Given the description of an element on the screen output the (x, y) to click on. 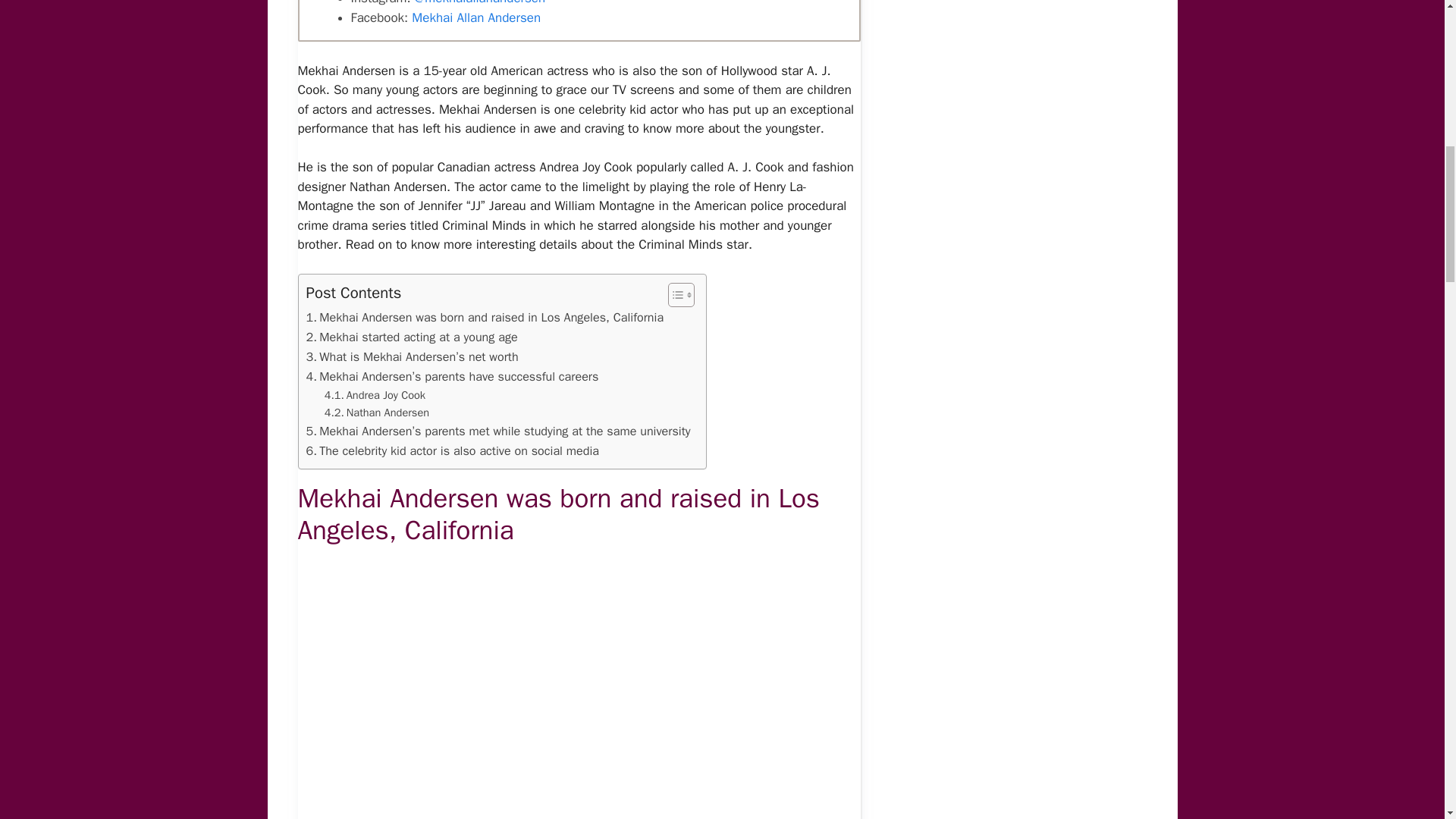
The celebrity kid actor is also active on social media (452, 451)
Mekhai started acting at a young age (411, 337)
Mekhai Allan Andersen (476, 17)
The celebrity kid actor is also active on social media (452, 451)
Nathan Andersen (376, 412)
Mekhai started acting at a young age (411, 337)
Nathan Andersen (376, 412)
Andrea Joy Cook (374, 395)
Andrea Joy Cook (374, 395)
